Given the description of an element on the screen output the (x, y) to click on. 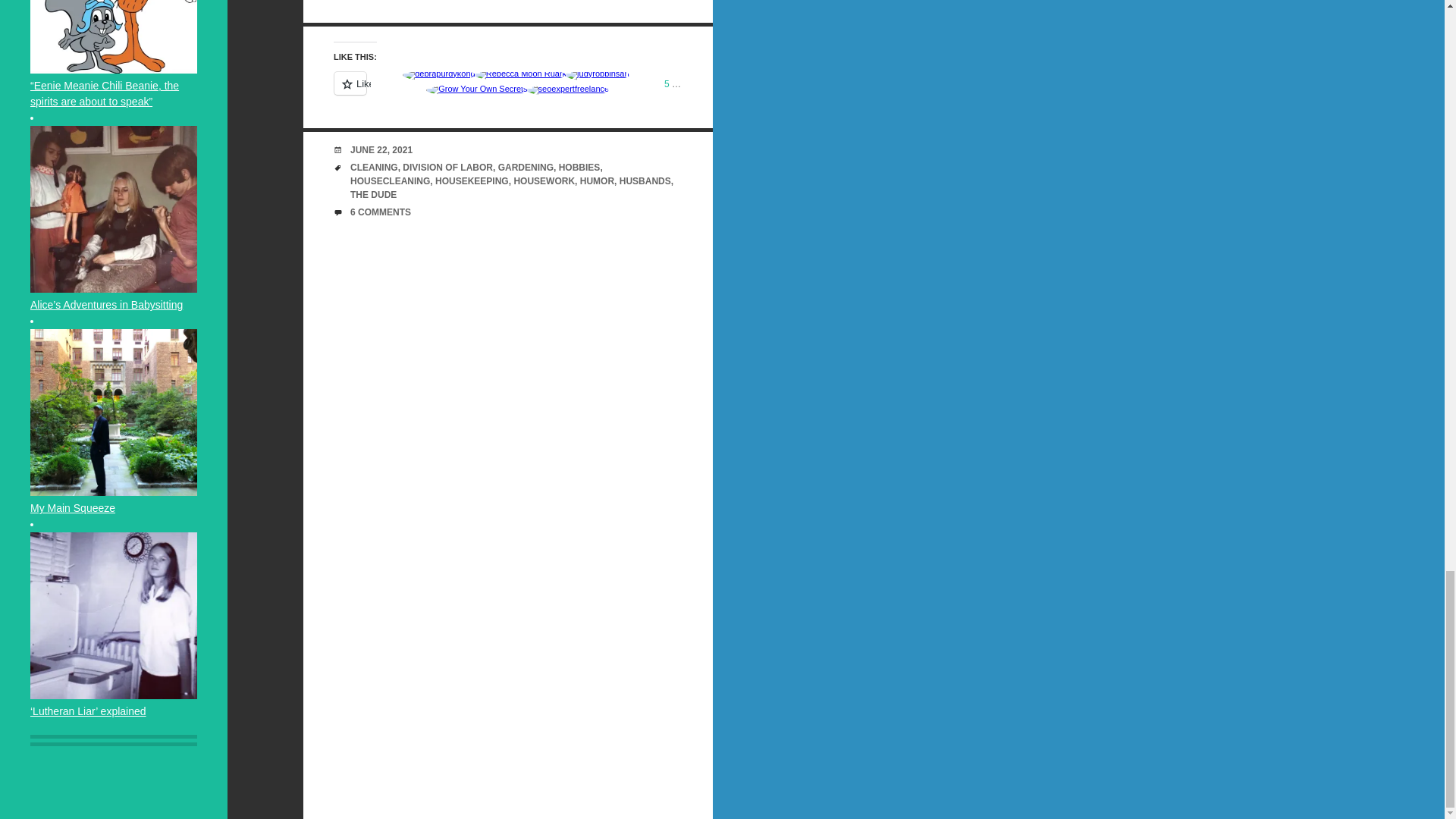
Like or Reblog (507, 92)
My Main Squeeze (113, 412)
'Lutheran Liar' explained (113, 615)
Alice's Adventures in Babysitting (113, 209)
"Eenie Meanie Chili Beanie, the spirits are about to speak" (113, 36)
5:40 pm (381, 149)
